Given the description of an element on the screen output the (x, y) to click on. 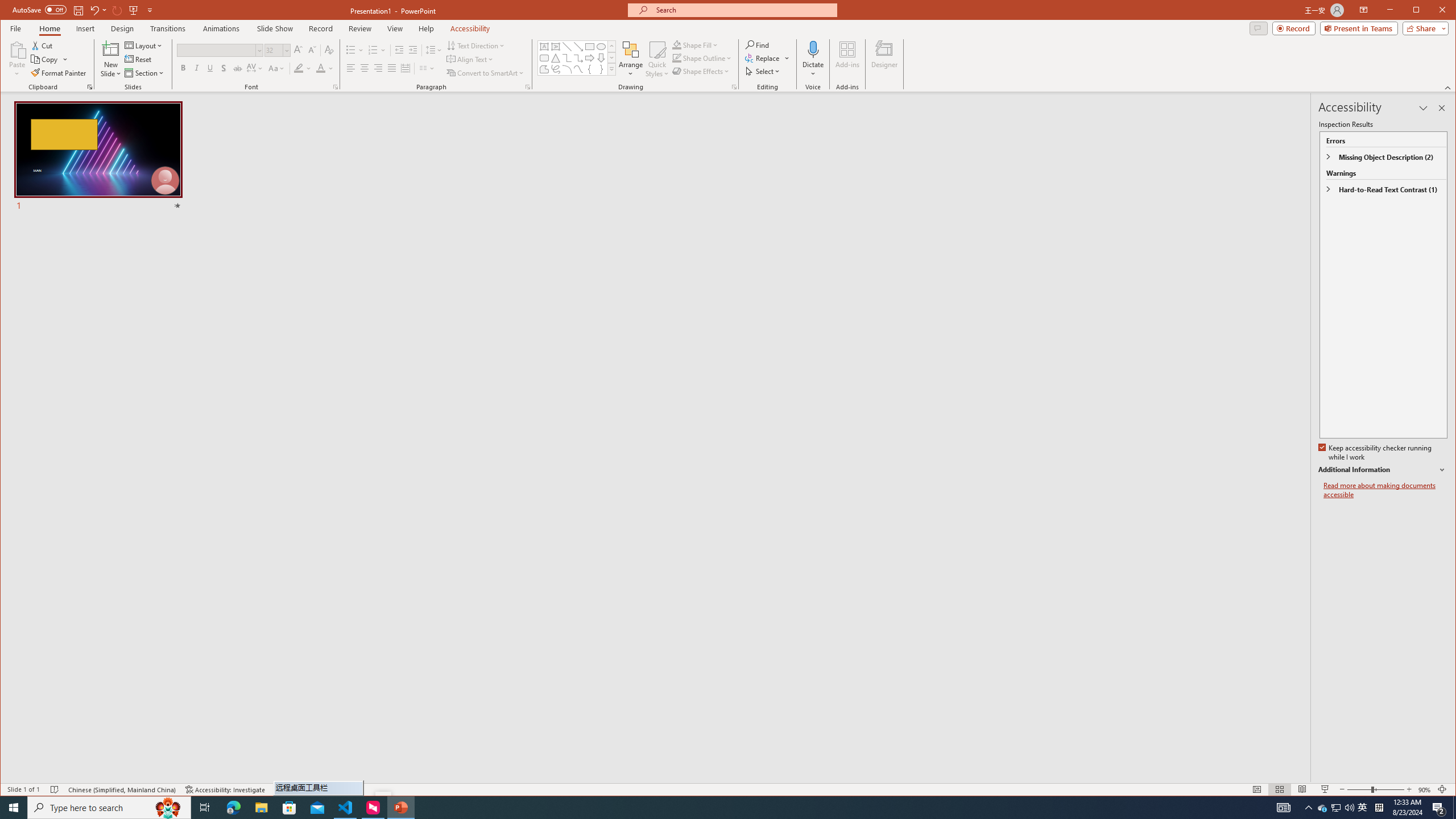
Line (567, 46)
Additional Information (1382, 469)
Italic (196, 68)
Increase Indent (412, 49)
Change Case (276, 68)
Shadow (224, 68)
Increase Font Size (297, 49)
Visual Studio Code - 1 running window (345, 807)
Task View (204, 807)
